Given the description of an element on the screen output the (x, y) to click on. 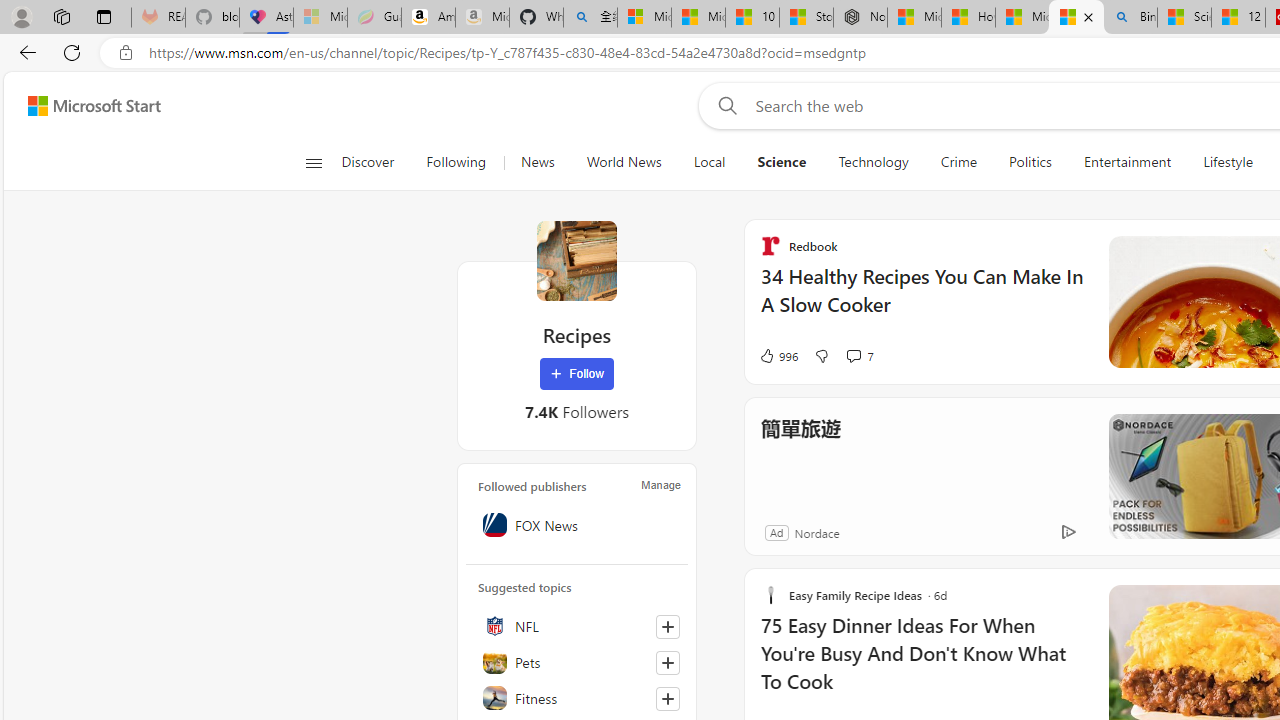
Fitness (577, 697)
Follow this topic (667, 698)
34 Healthy Recipes You Can Make In A Slow Cooker (922, 300)
Pets (577, 661)
